Given the description of an element on the screen output the (x, y) to click on. 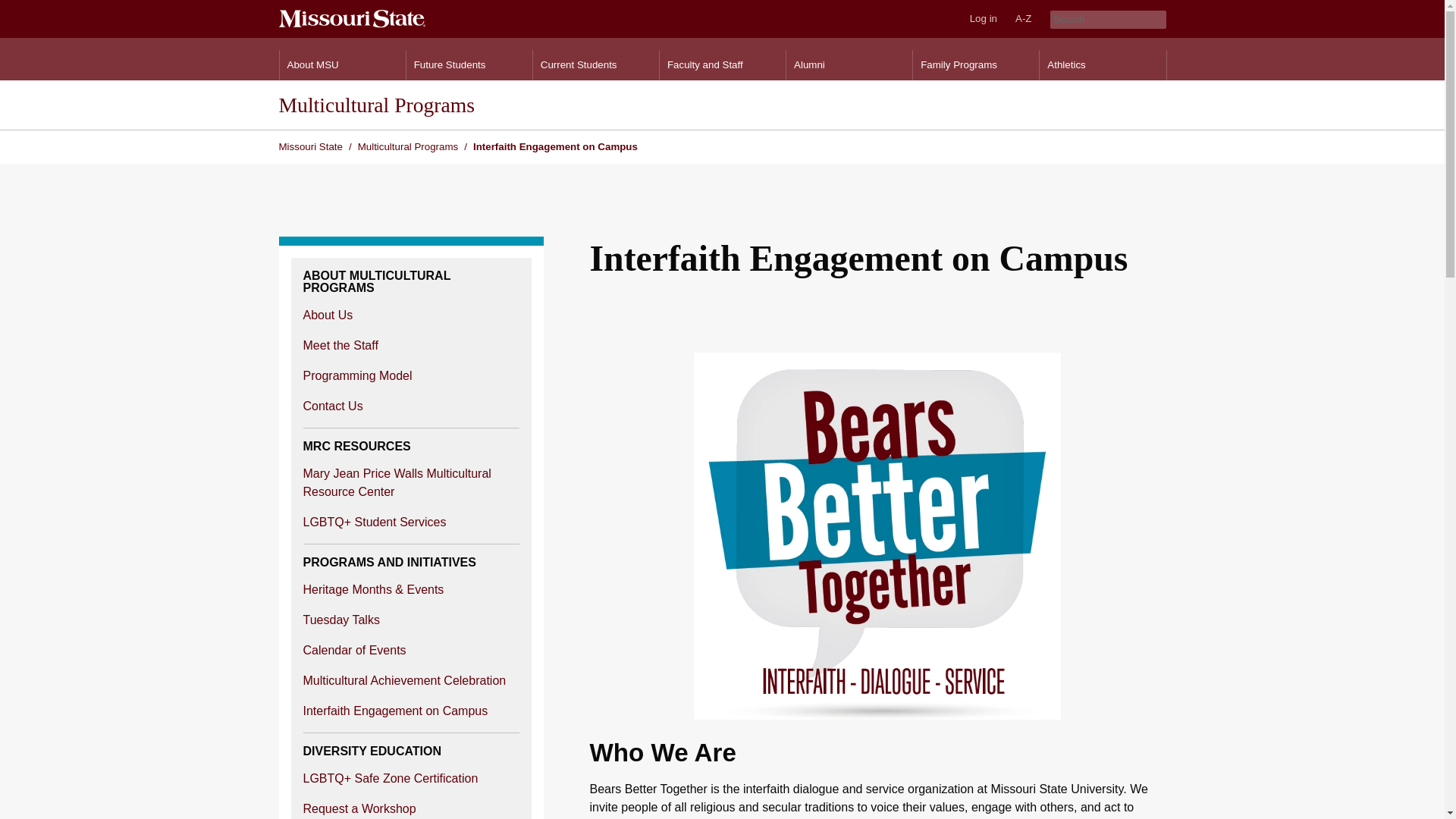
About MSU (341, 64)
A-Z (1023, 18)
Future Students (469, 64)
Current Students (595, 64)
Log in (983, 18)
